Given the description of an element on the screen output the (x, y) to click on. 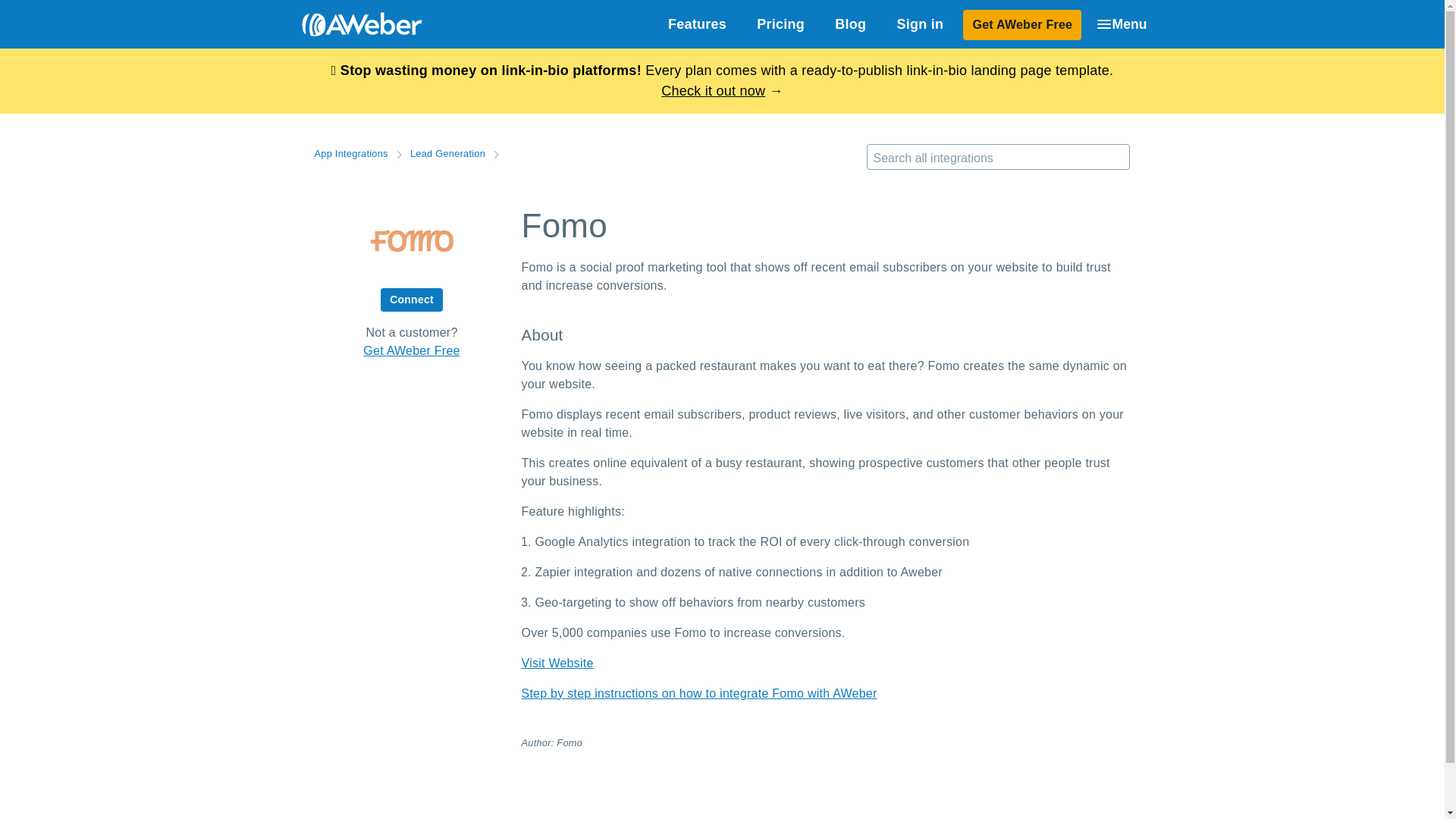
Get AWeber Free (1021, 24)
Blog (849, 24)
Sign in (919, 24)
Get AWeber Free (411, 350)
Pricing (780, 24)
App Integrations (350, 153)
Connect (411, 300)
AWeber logo (350, 24)
Features (696, 24)
Lead Generation (447, 153)
